Given the description of an element on the screen output the (x, y) to click on. 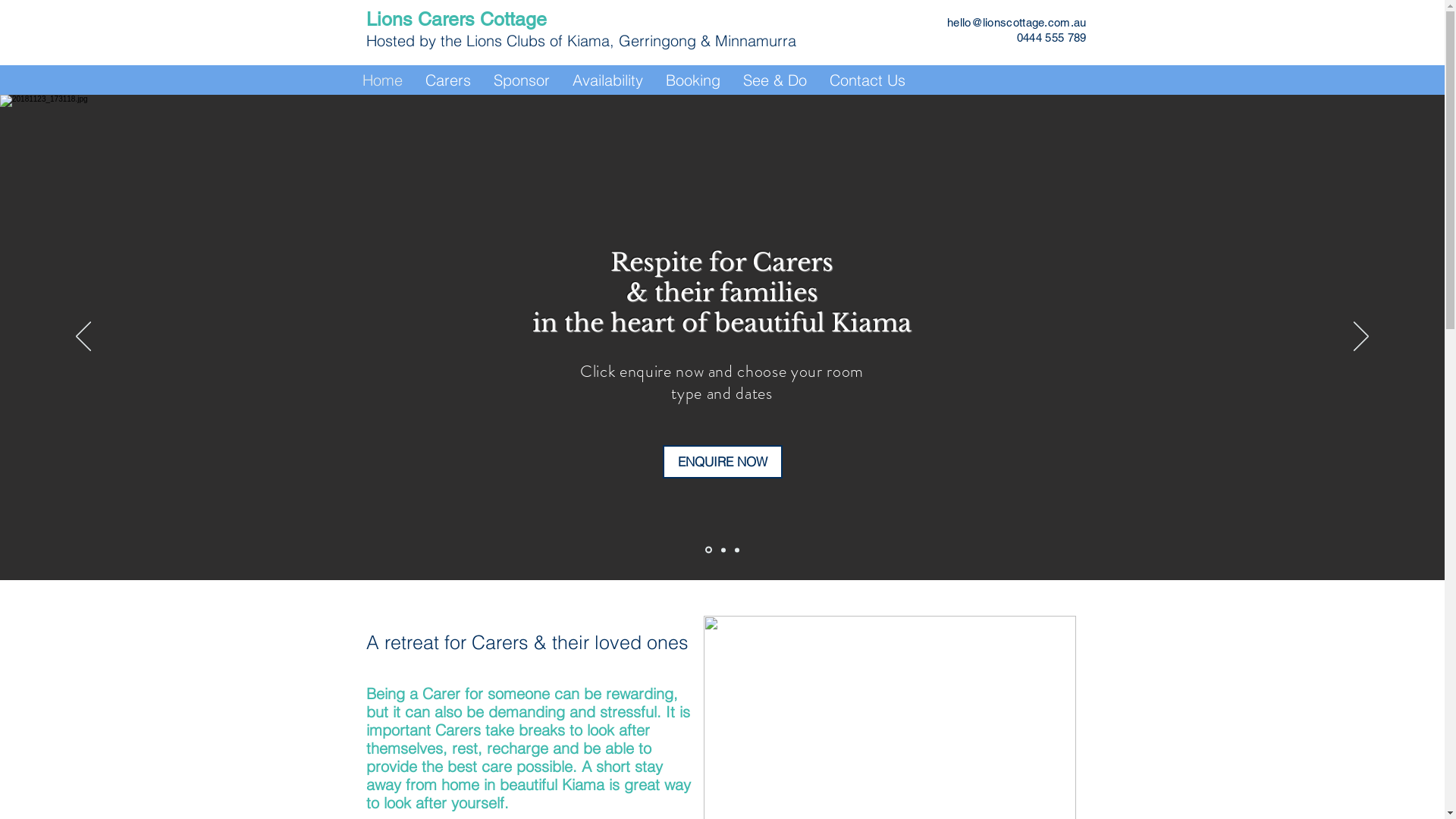
Sponsor Element type: text (521, 80)
See & Do Element type: text (774, 80)
Home Element type: text (381, 80)
ENQUIRE NOW Element type: text (722, 461)
Availability Element type: text (607, 80)
Lions Carers Cottage Element type: text (455, 19)
Contact Us Element type: text (866, 80)
hello@lionscottage.com.au Element type: text (1016, 21)
Carers Element type: text (448, 80)
Booking Element type: text (692, 80)
Hosted by the Lions Clubs of Kiama, Gerringong & Minnamurra Element type: text (580, 40)
